Given the description of an element on the screen output the (x, y) to click on. 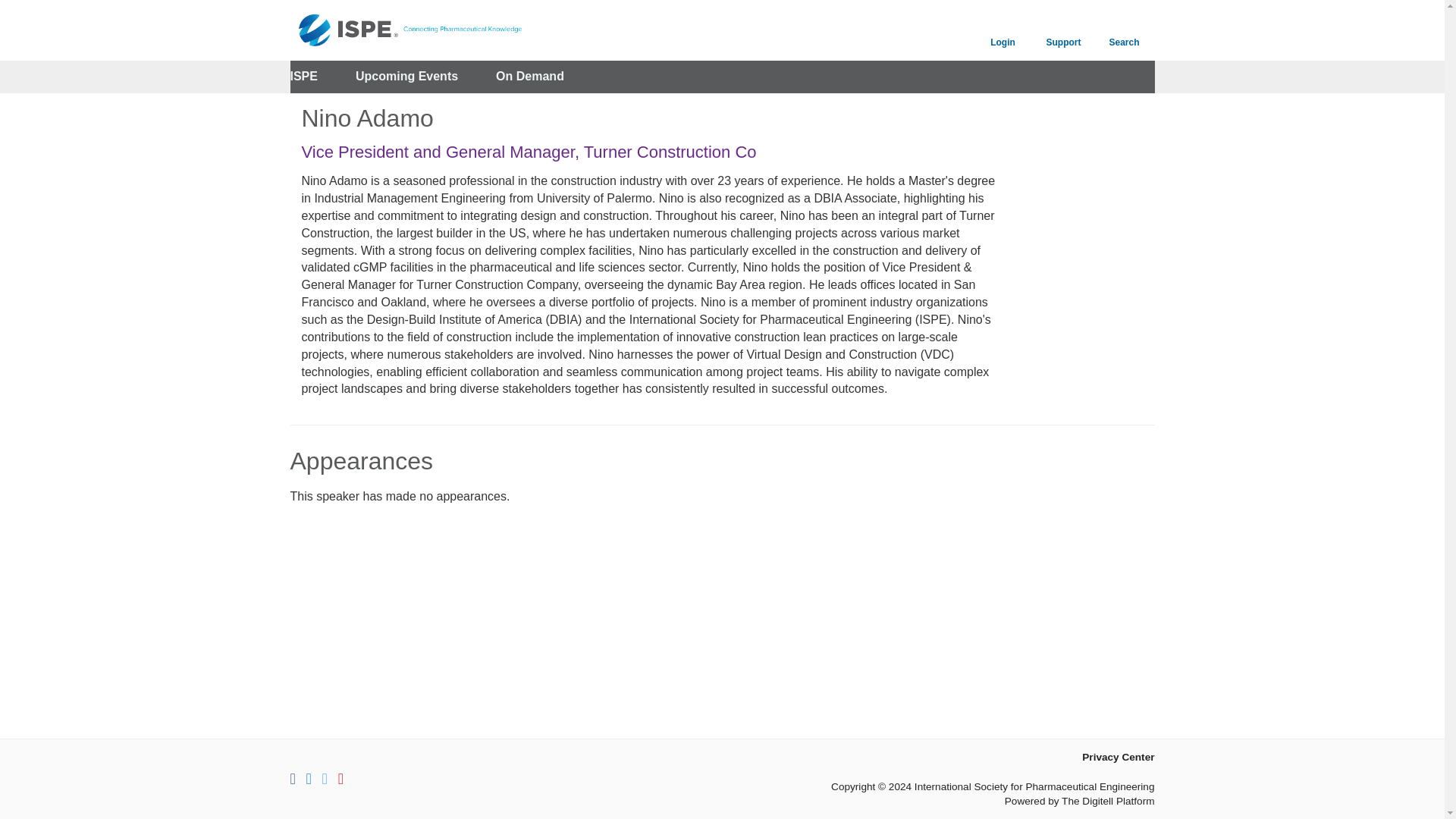
Support (1062, 30)
ISPE (303, 76)
Login (1002, 30)
Search (1123, 30)
Login (1002, 30)
Search (1123, 30)
Upcoming Events (406, 76)
Privacy Center (1117, 756)
On Demand (530, 76)
Support (1062, 30)
